Given the description of an element on the screen output the (x, y) to click on. 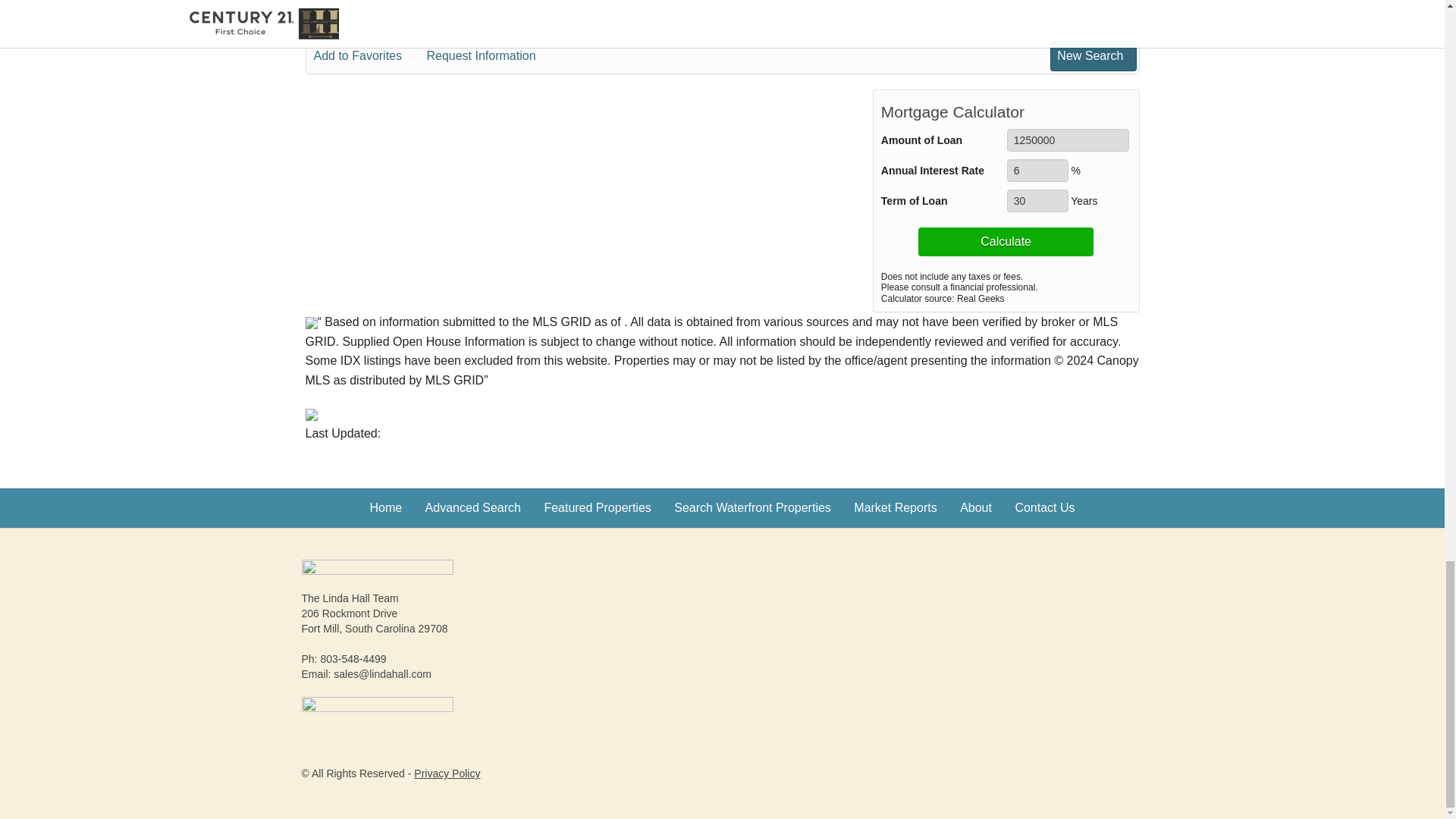
1250000 (1068, 139)
30 (1037, 200)
6 (1037, 169)
